Given the description of an element on the screen output the (x, y) to click on. 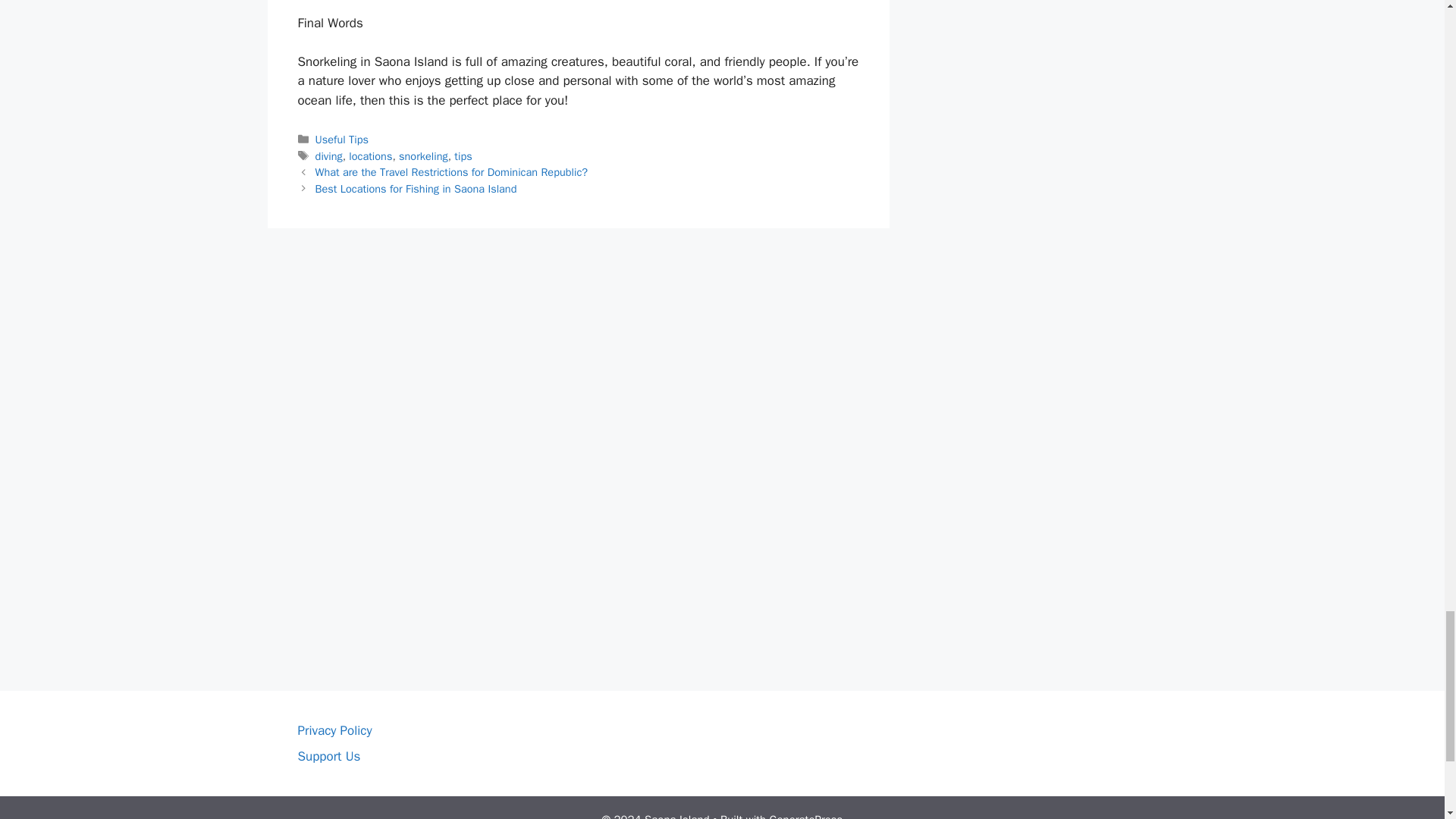
diving (328, 155)
GeneratePress (806, 816)
Useful Tips (341, 139)
What are the Travel Restrictions for Dominican Republic? (451, 172)
snorkeling (423, 155)
Privacy Policy (334, 730)
Best Locations for Fishing in Saona Island (415, 188)
locations (370, 155)
Support Us (328, 756)
tips (462, 155)
